Given the description of an element on the screen output the (x, y) to click on. 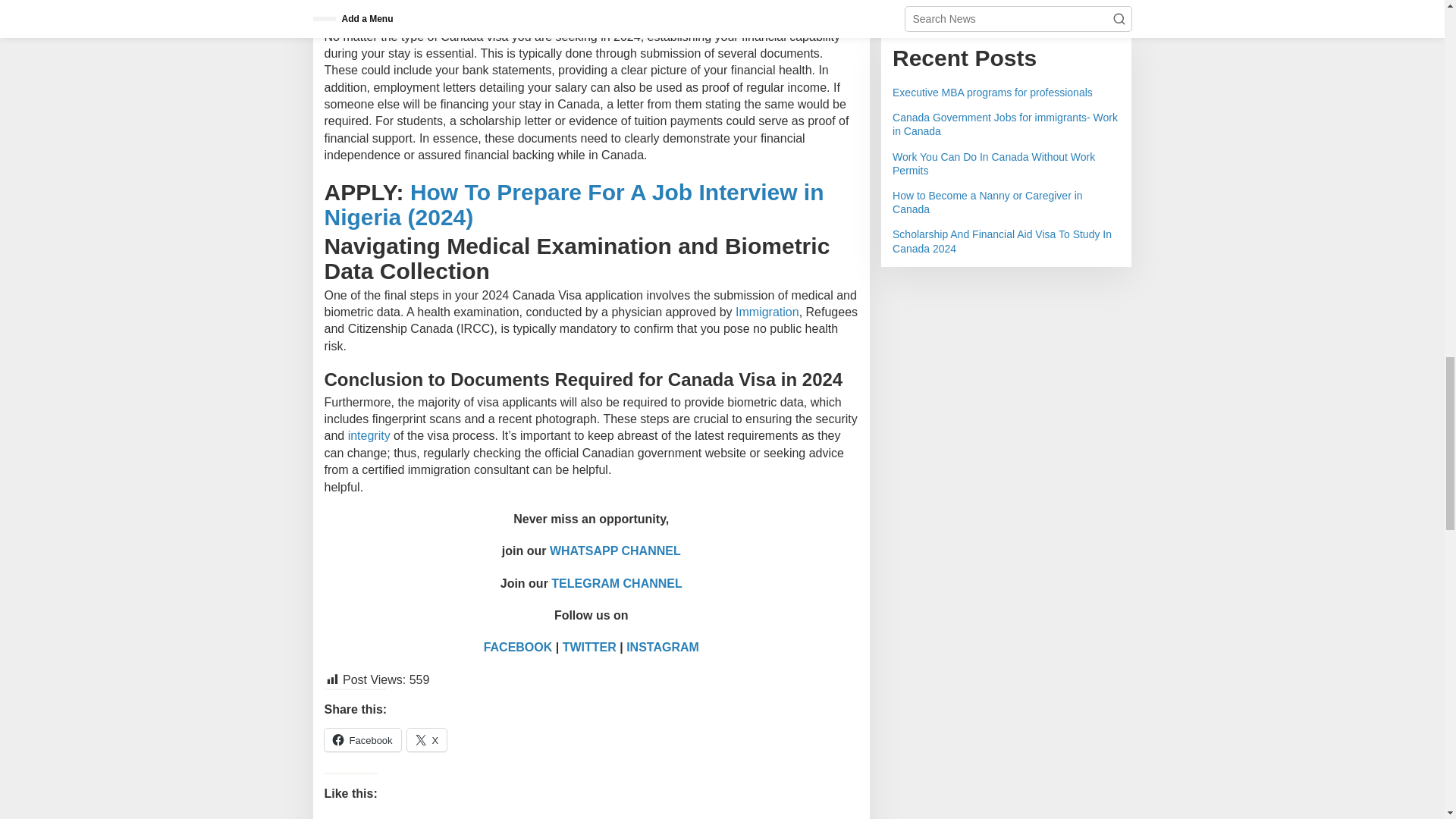
TELEGRAM CHANNEL (616, 583)
TWITTER (588, 646)
X (426, 739)
Click to share on X (426, 739)
integrity (368, 435)
WHATSAPP CHANNEL (615, 550)
INSTAGRAM (662, 646)
Click to share on Facebook (362, 739)
Immigration (767, 311)
FACEBOOK (518, 646)
